Given the description of an element on the screen output the (x, y) to click on. 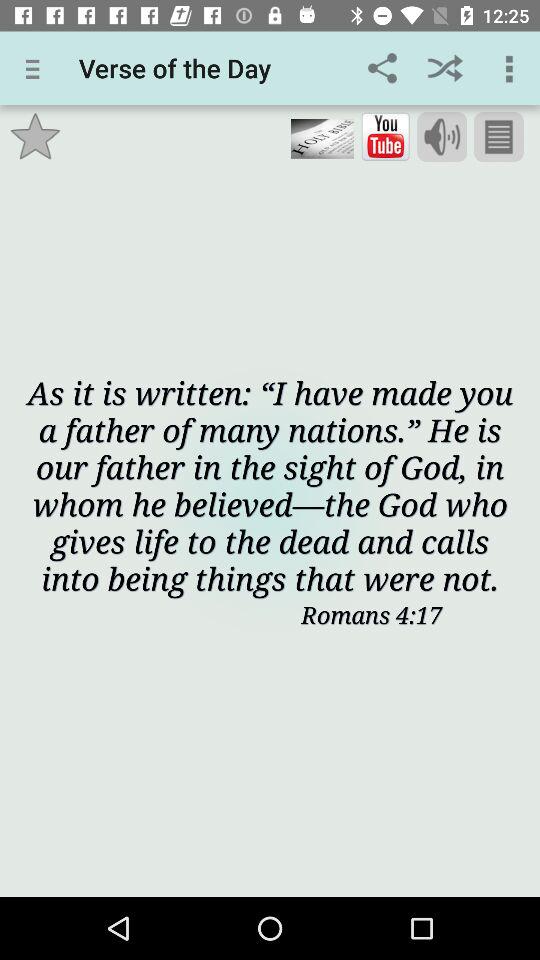
click the icon above the as it is item (321, 138)
